Given the description of an element on the screen output the (x, y) to click on. 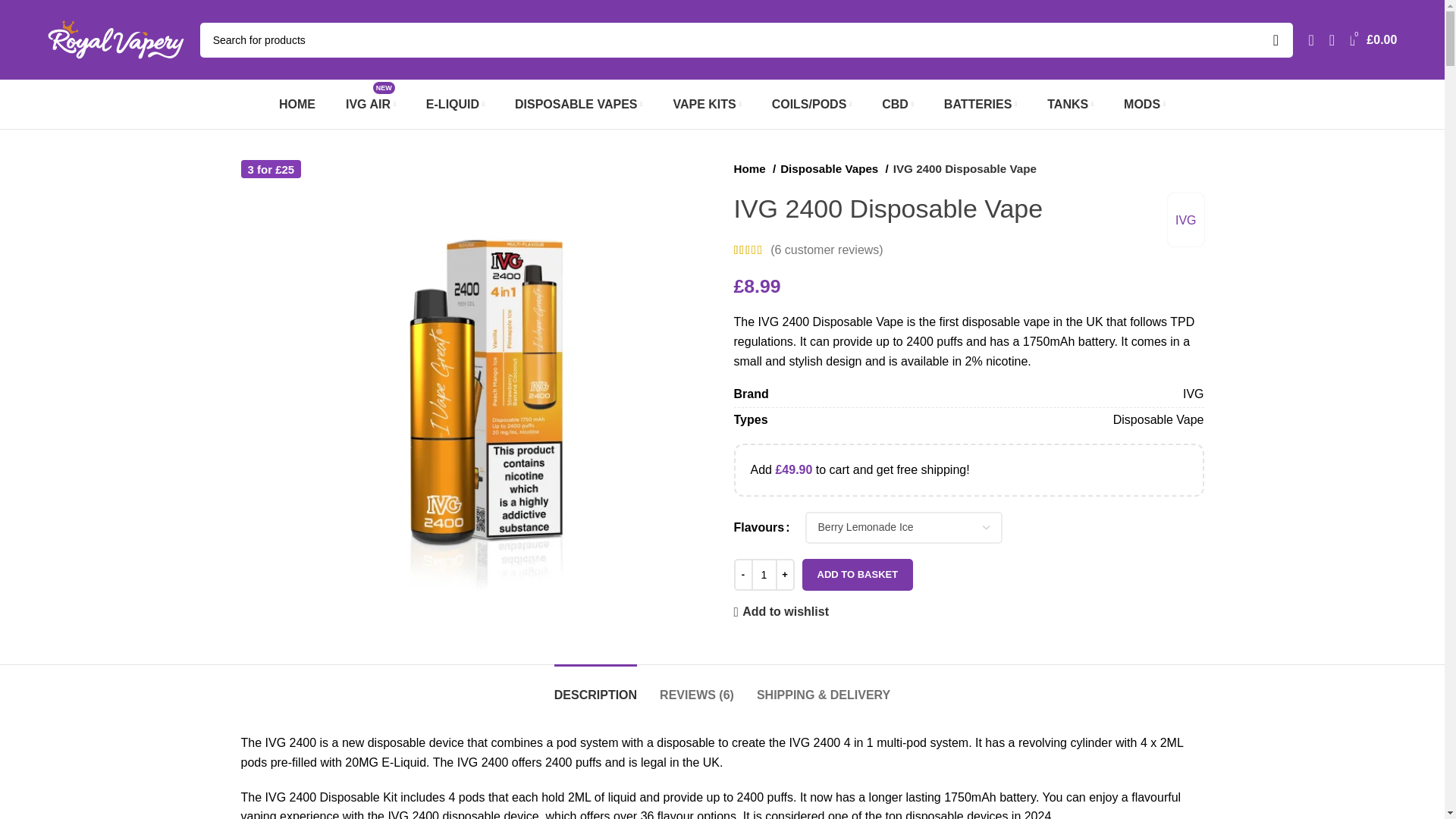
SEARCH (1274, 39)
HOME (297, 104)
Shopping cart (1373, 39)
E-LIQUID (455, 104)
DISPOSABLE VAPES (578, 104)
Search for products (747, 39)
